Given the description of an element on the screen output the (x, y) to click on. 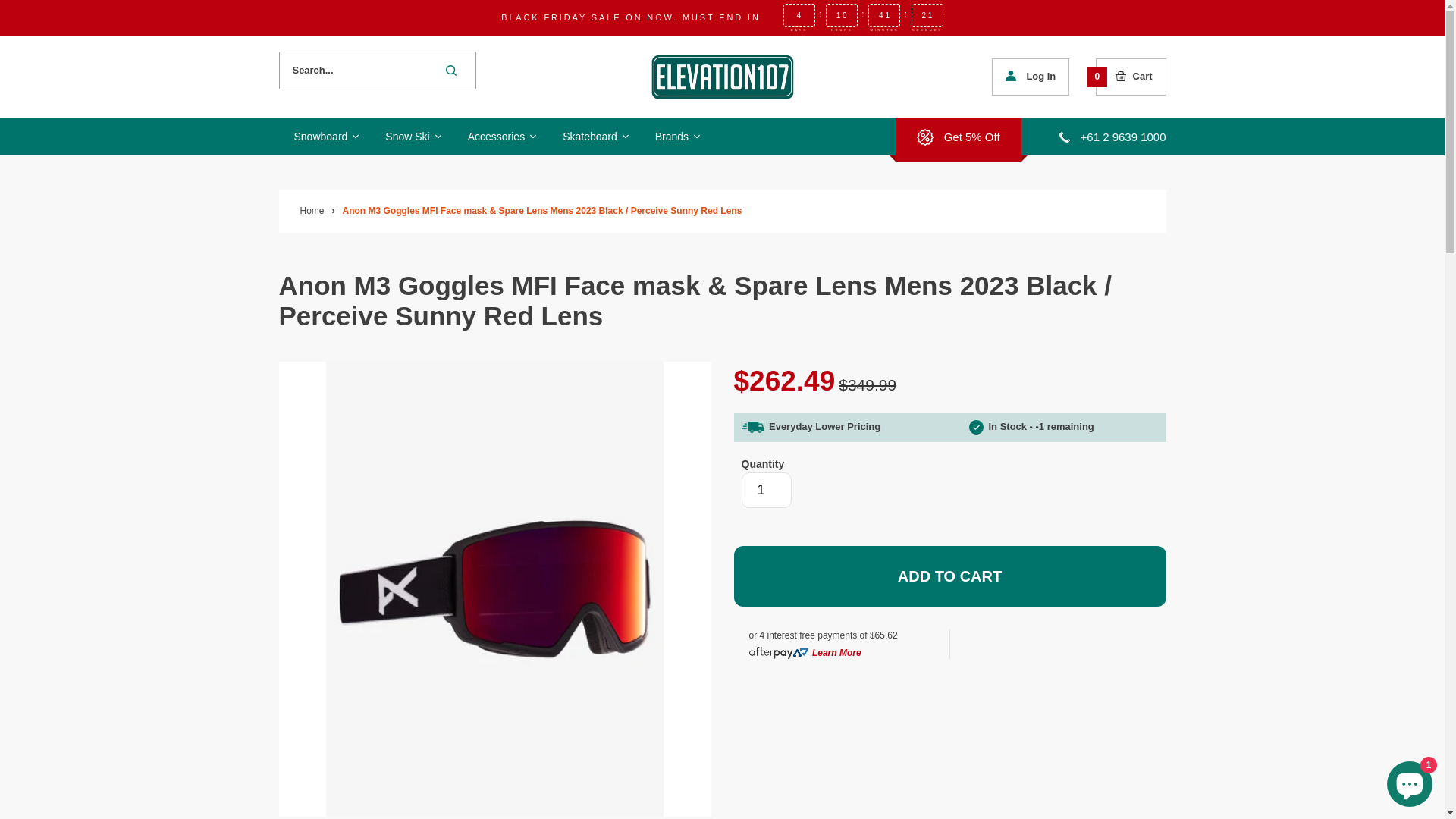
Skateboard Element type: text (593, 137)
Home Element type: text (312, 210)
Learn More Element type: text (836, 652)
Accessories Element type: text (499, 137)
Snowboard Element type: text (324, 137)
Log In Element type: text (1030, 76)
Snow Ski Element type: text (410, 137)
+61 2 9639 1000 Element type: text (1112, 136)
Brands Element type: text (675, 137)
Shopify online store chat Element type: hover (1409, 780)
ADD TO CART Element type: text (950, 576)
0
Cart Element type: text (1133, 76)
Get 5% Off Element type: text (958, 136)
